Given the description of an element on the screen output the (x, y) to click on. 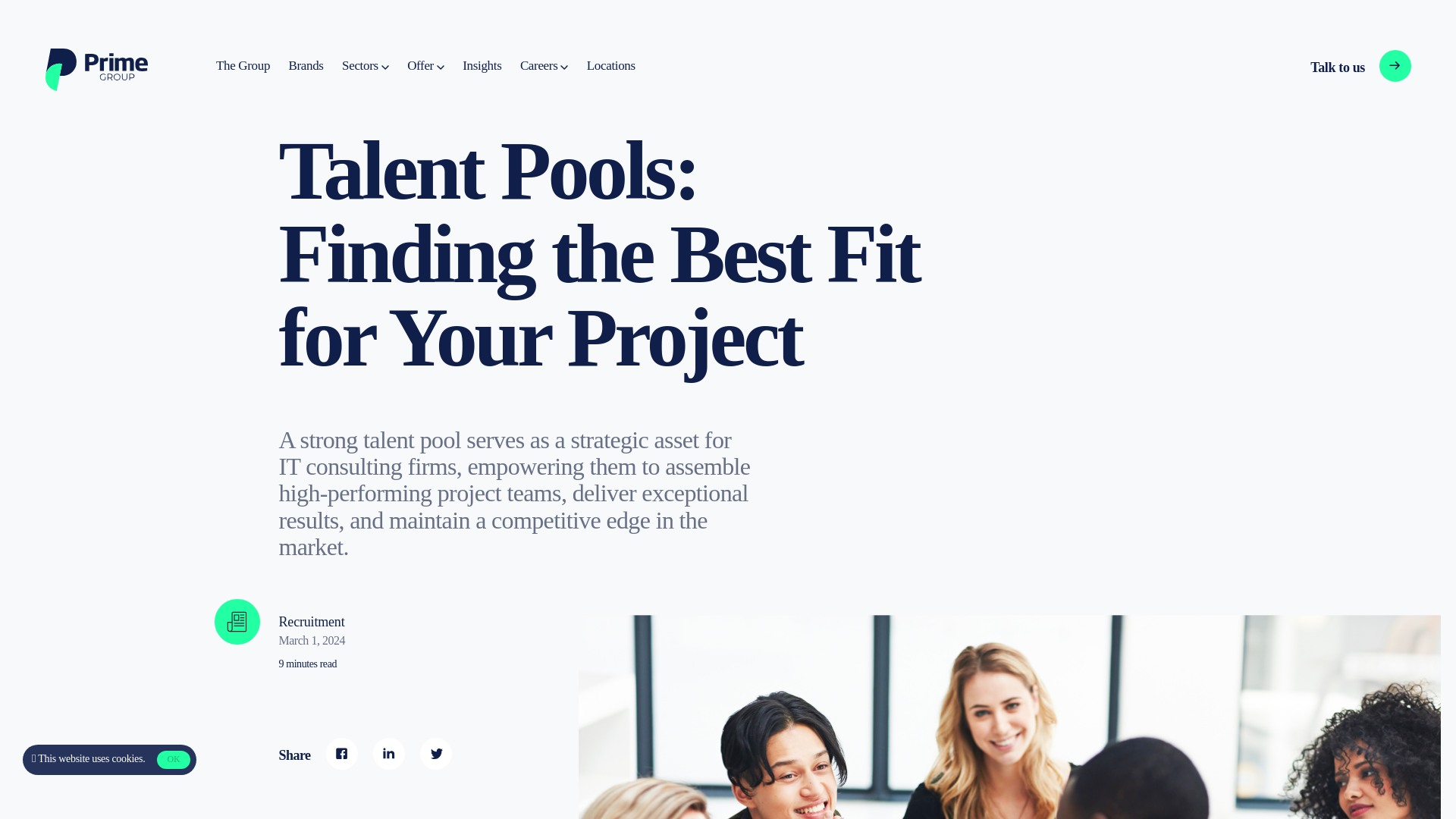
OK (173, 760)
Brands (305, 66)
The Group (1334, 67)
Locations (242, 66)
uses cookies. (610, 66)
Offer (117, 758)
Sectors (425, 66)
Careers (365, 66)
Insights (543, 66)
